Given the description of an element on the screen output the (x, y) to click on. 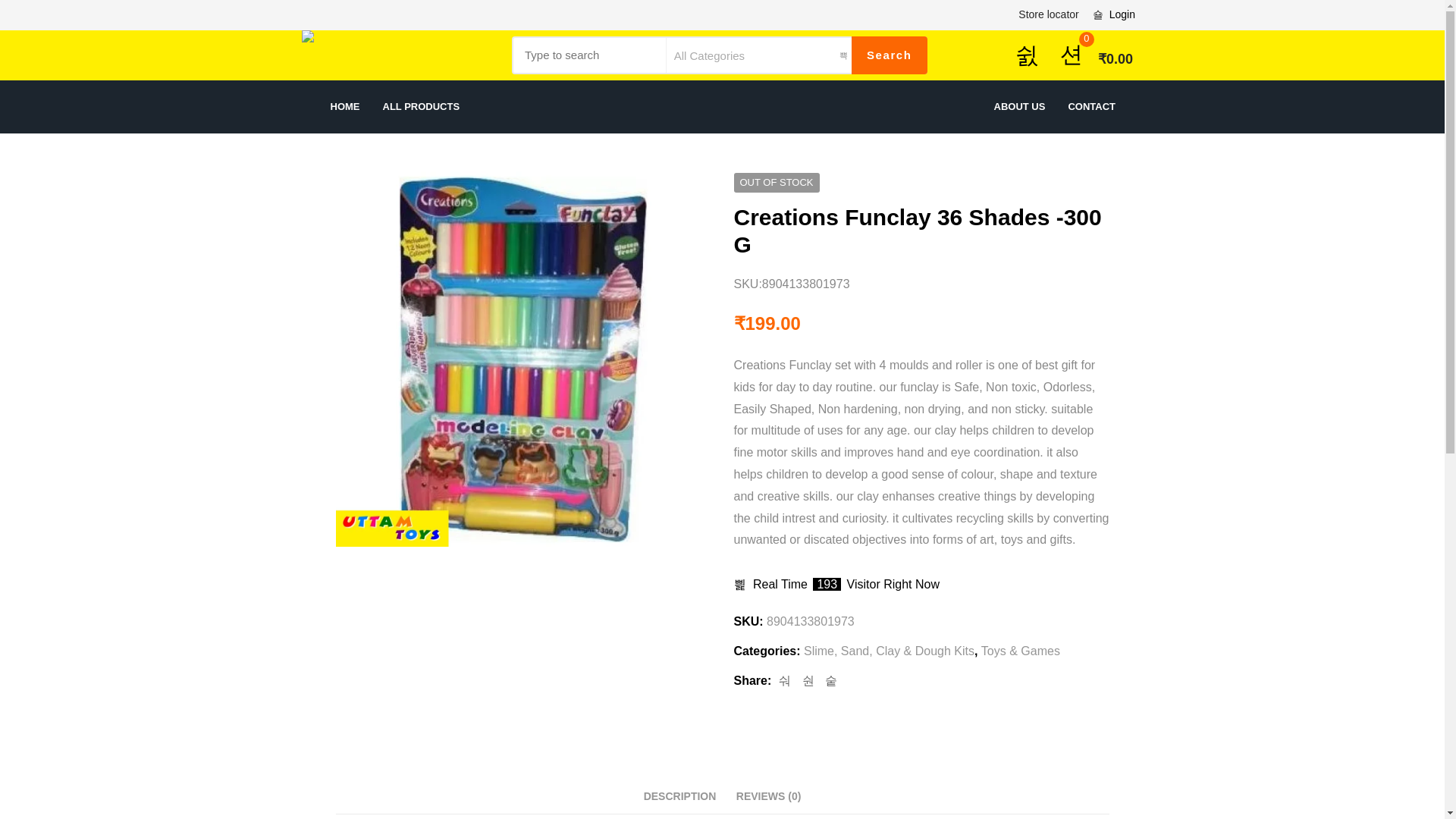
ALL PRODUCTS (420, 106)
HOME (344, 106)
Login (722, 485)
Search (889, 55)
Store locator (1039, 14)
